Given the description of an element on the screen output the (x, y) to click on. 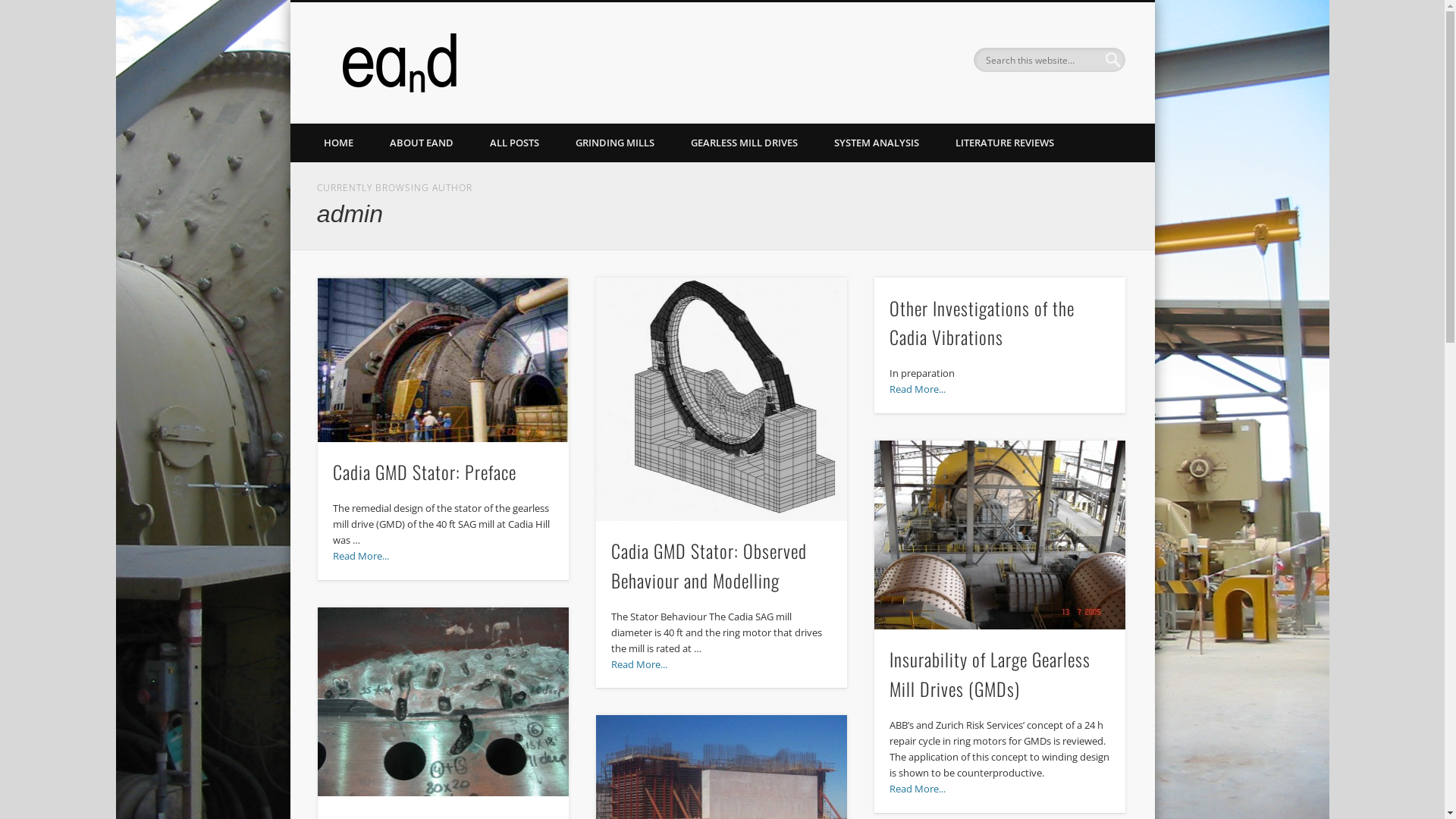
Cadia GMD Stator: Observed Behaviour and Modelling Element type: text (708, 564)
Read More... Element type: text (917, 788)
HOME Element type: text (337, 142)
GRINDING MILLS Element type: text (613, 142)
GEARLESS MILL DRIVES Element type: text (743, 142)
Cadia GMD Stator: Preface Element type: hover (443, 359)
Other Investigations of the Cadia Vibrations Element type: text (981, 322)
Read More... Element type: text (639, 664)
EAnD Element type: text (492, 59)
Search Element type: text (11, 9)
ALL POSTS Element type: text (514, 142)
Insurability of Large Gearless Mill Drives (GMDs) Element type: hover (1000, 534)
Insurability of Large Gearless Mill Drives (GMDs) Element type: text (989, 673)
LITERATURE REVIEWS Element type: text (1004, 142)
Cadia GMD Stator:   Observed Behaviour and Modelling Element type: hover (721, 398)
Read More... Element type: text (360, 555)
Cadia GMD Stator: Preface Element type: text (424, 471)
Read More... Element type: text (917, 388)
ABOUT EAND Element type: text (421, 142)
SYSTEM ANALYSIS Element type: text (876, 142)
